Given the description of an element on the screen output the (x, y) to click on. 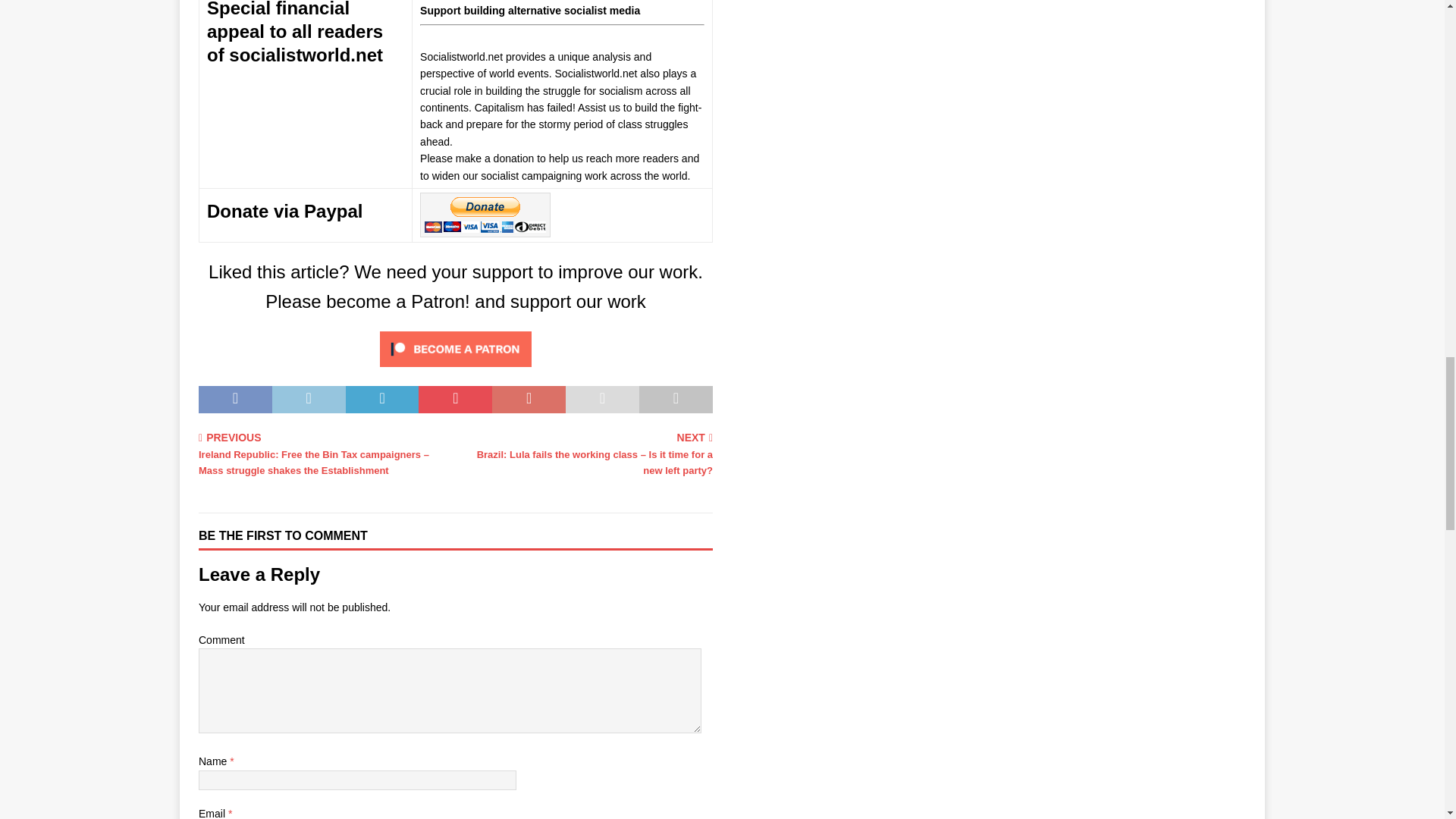
PayPal - The safer, easier way to pay online! (485, 214)
